Given the description of an element on the screen output the (x, y) to click on. 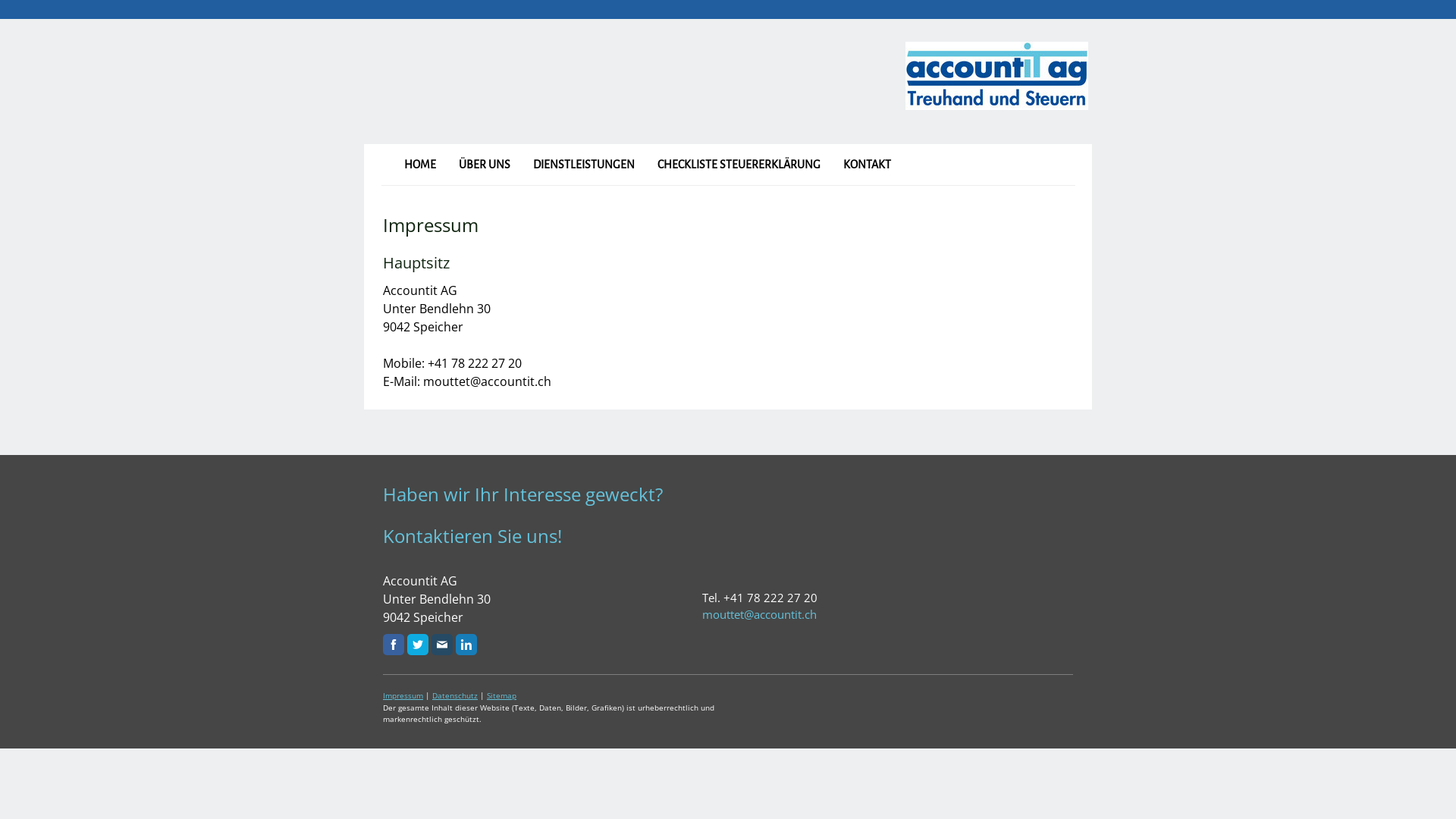
Datenschutz Element type: text (454, 695)
KONTAKT Element type: text (866, 164)
Facebook Element type: hover (393, 644)
Impressum Element type: text (402, 695)
Sitemap Element type: text (501, 695)
mouttet@accountit.ch Element type: text (759, 613)
E-Mail Element type: hover (441, 644)
DIENSTLEISTUNGEN Element type: text (583, 164)
LinkedIn Element type: hover (465, 644)
Twitter Element type: hover (417, 644)
HOME Element type: text (419, 164)
